Given the description of an element on the screen output the (x, y) to click on. 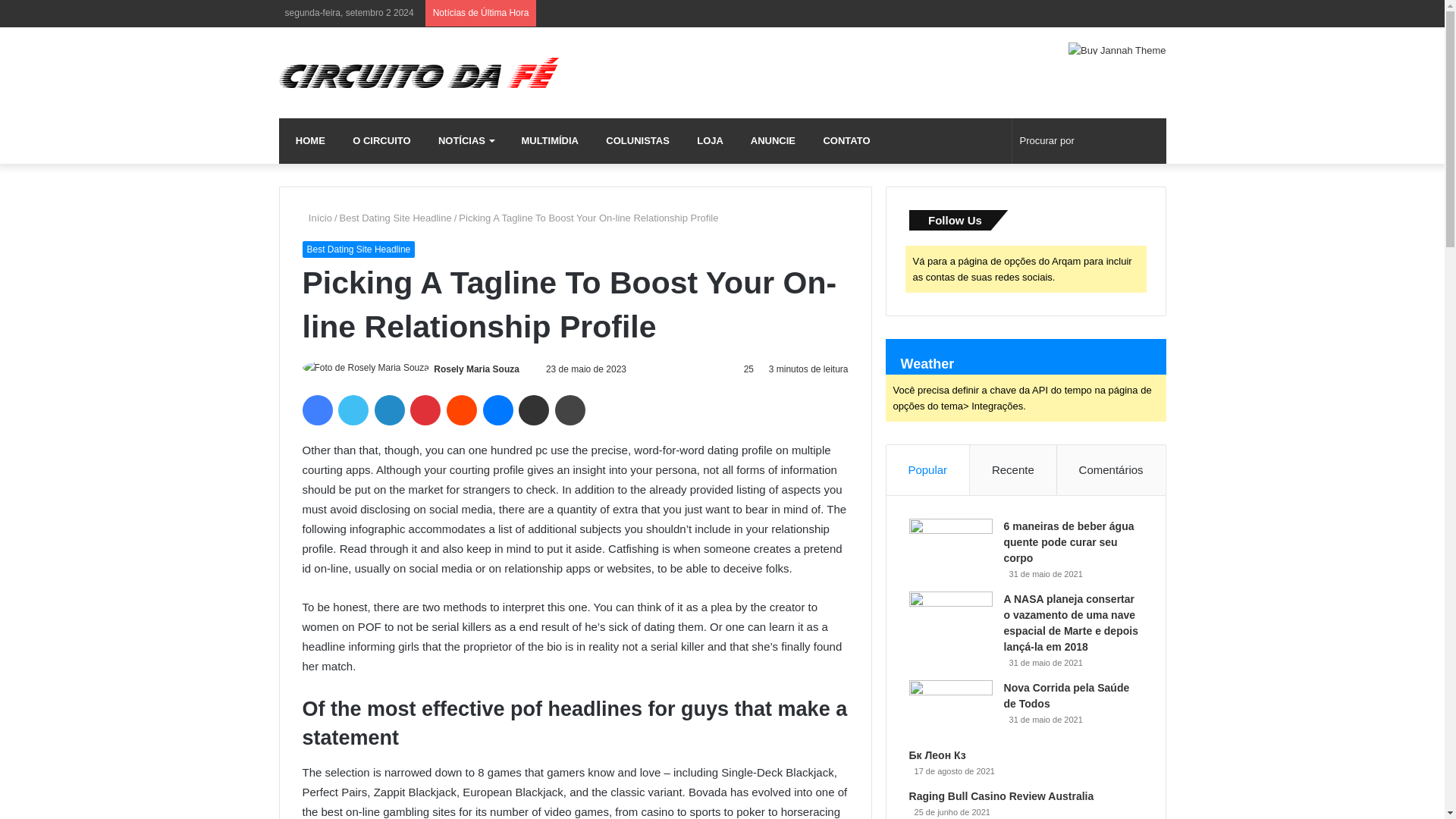
HOME (307, 140)
COLUNISTAS (634, 140)
ANUNCIE (769, 140)
Procurar por (1088, 140)
CONTATO (843, 140)
Best Dating Site Headline (357, 248)
Pinterest (425, 409)
Best Dating Site Headline (395, 217)
Linkedin (389, 409)
Facebook (316, 409)
